Given the description of an element on the screen output the (x, y) to click on. 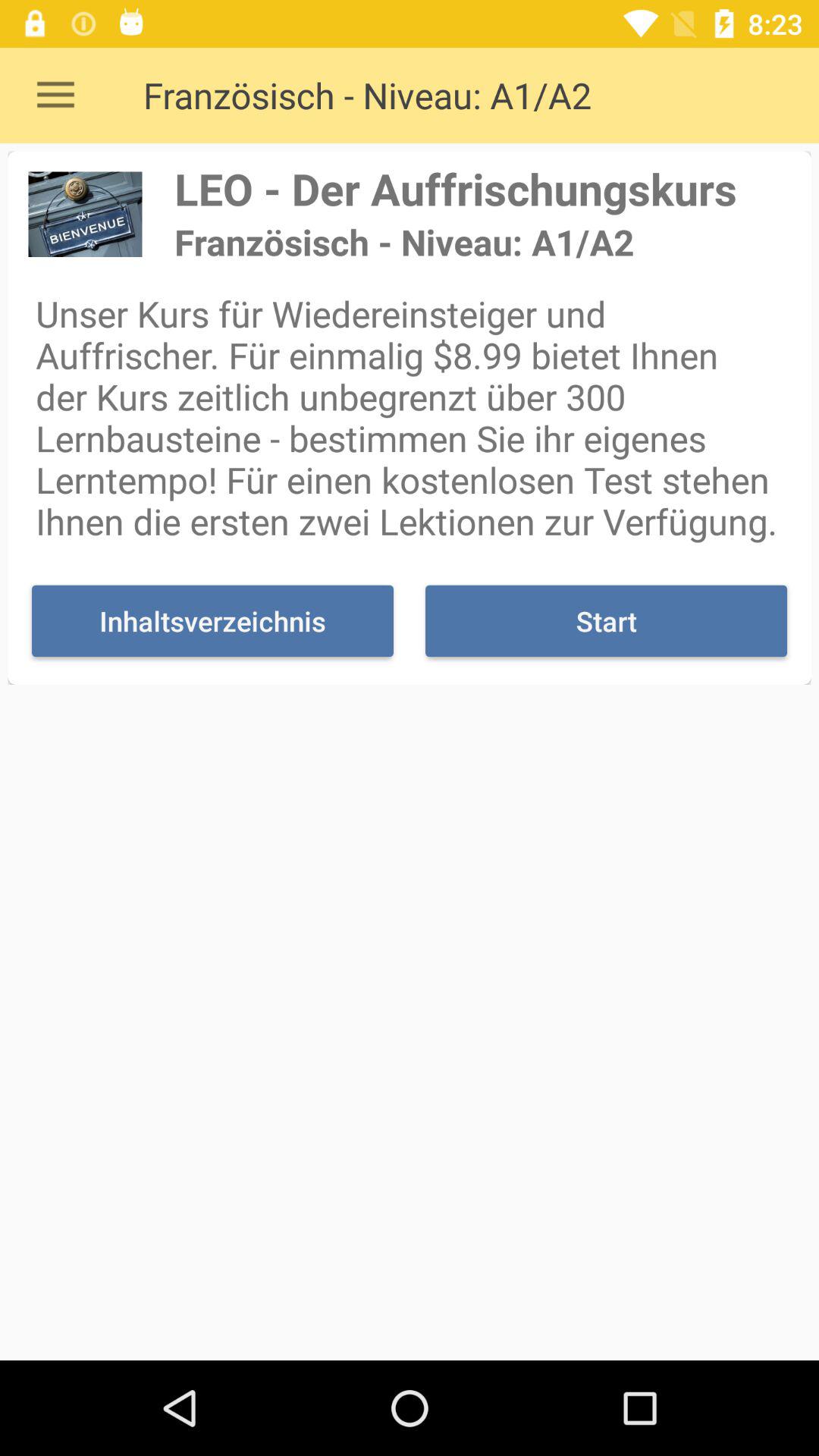
select icon to the right of inhaltsverzeichnis icon (606, 620)
